Given the description of an element on the screen output the (x, y) to click on. 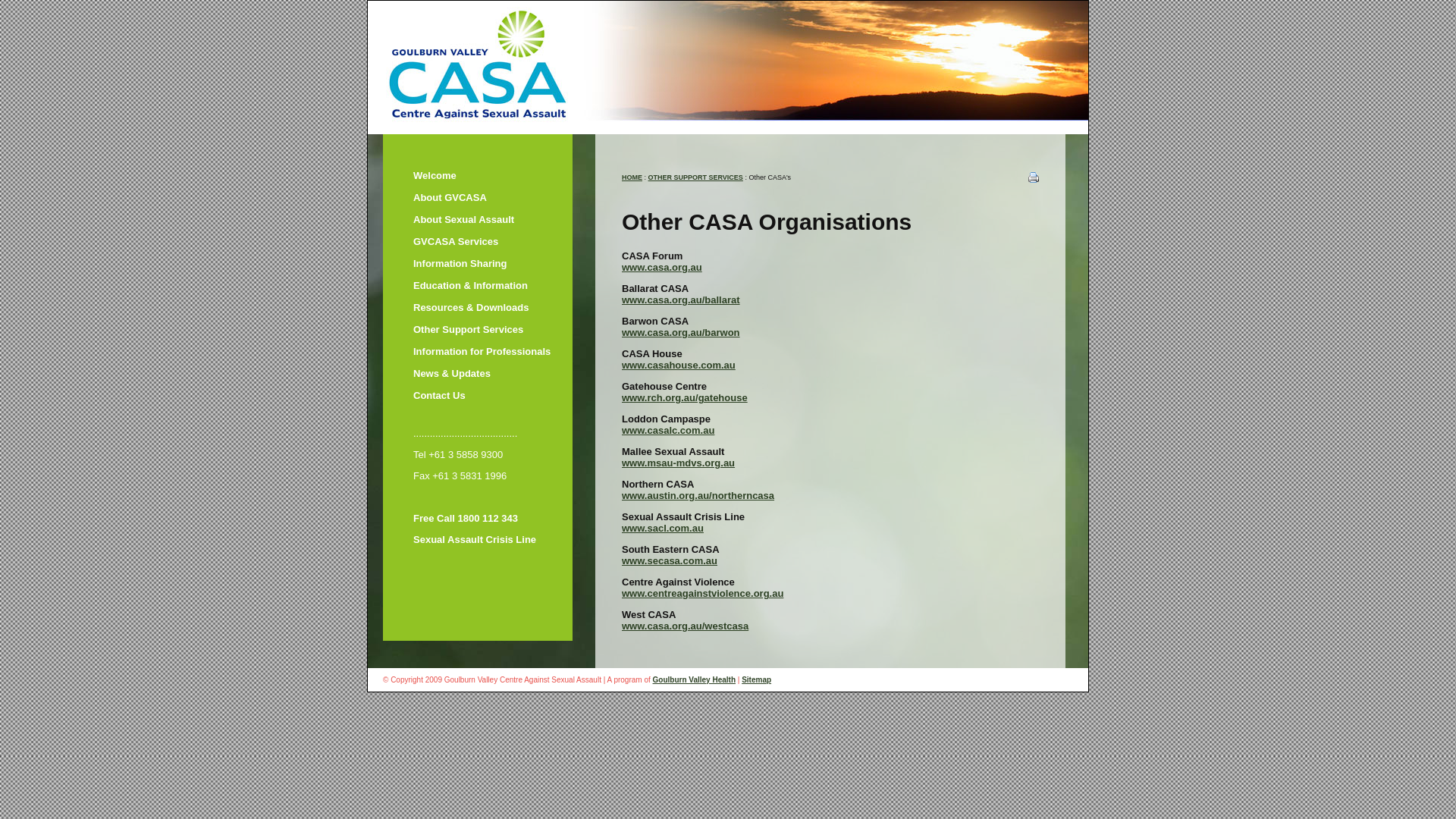
HOME Element type: text (631, 177)
Welcome Element type: text (493, 175)
www.rch.org.au/gatehouse Element type: text (684, 397)
About GVCASA Element type: text (493, 197)
Information Sharing Element type: text (493, 263)
www.casahouse.com.au Element type: text (678, 364)
About Sexual Assault Element type: text (493, 219)
www.secasa.com.au Element type: text (669, 560)
www.casa.org.au/barwon Element type: text (680, 332)
Other Support Services Element type: text (493, 329)
www.austin.org.au/northerncasa Element type: text (697, 495)
www.casa.org.au Element type: text (661, 267)
Goulburn Valley Health Element type: text (693, 679)
News & Updates Element type: text (493, 373)
OTHER SUPPORT SERVICES Element type: text (695, 177)
Contact Us Element type: text (493, 395)
www.msau-mdvs.org.au Element type: text (677, 462)
www.sacl.com.au Element type: text (662, 527)
Information for Professionals Element type: text (493, 351)
www.casa.org.au/westcasa Element type: text (684, 625)
Sitemap Element type: text (756, 679)
www.centreagainstviolence.org.au Element type: text (702, 593)
www.casalc.com.au Element type: text (667, 430)
Resources & Downloads Element type: text (493, 307)
www.casa.org.au/ballarat Element type: text (680, 299)
GVCASA Services Element type: text (493, 241)
Education & Information Element type: text (493, 285)
